Given the description of an element on the screen output the (x, y) to click on. 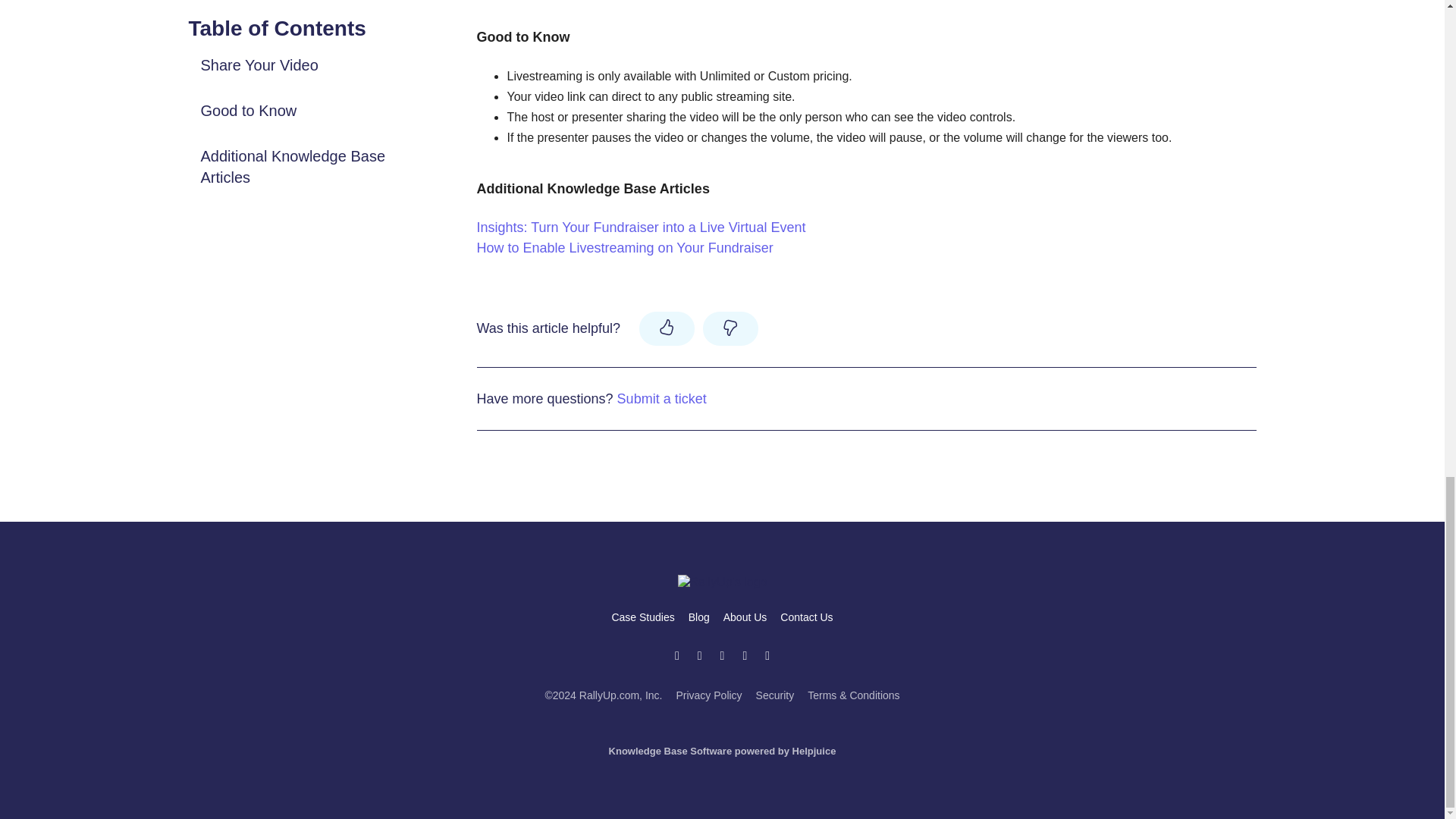
linkedin (766, 656)
About Us (745, 616)
facebook (744, 656)
Insights: Turn Your Fundraiser into a Live Virtual Event (640, 227)
How to Enable Livestreaming on Your Fundraiser (624, 247)
Privacy Policy (708, 694)
instagram (722, 656)
Submit a ticket (661, 398)
Blog (699, 616)
Knowledge Base Software powered by Helpjuice (721, 750)
